Given the description of an element on the screen output the (x, y) to click on. 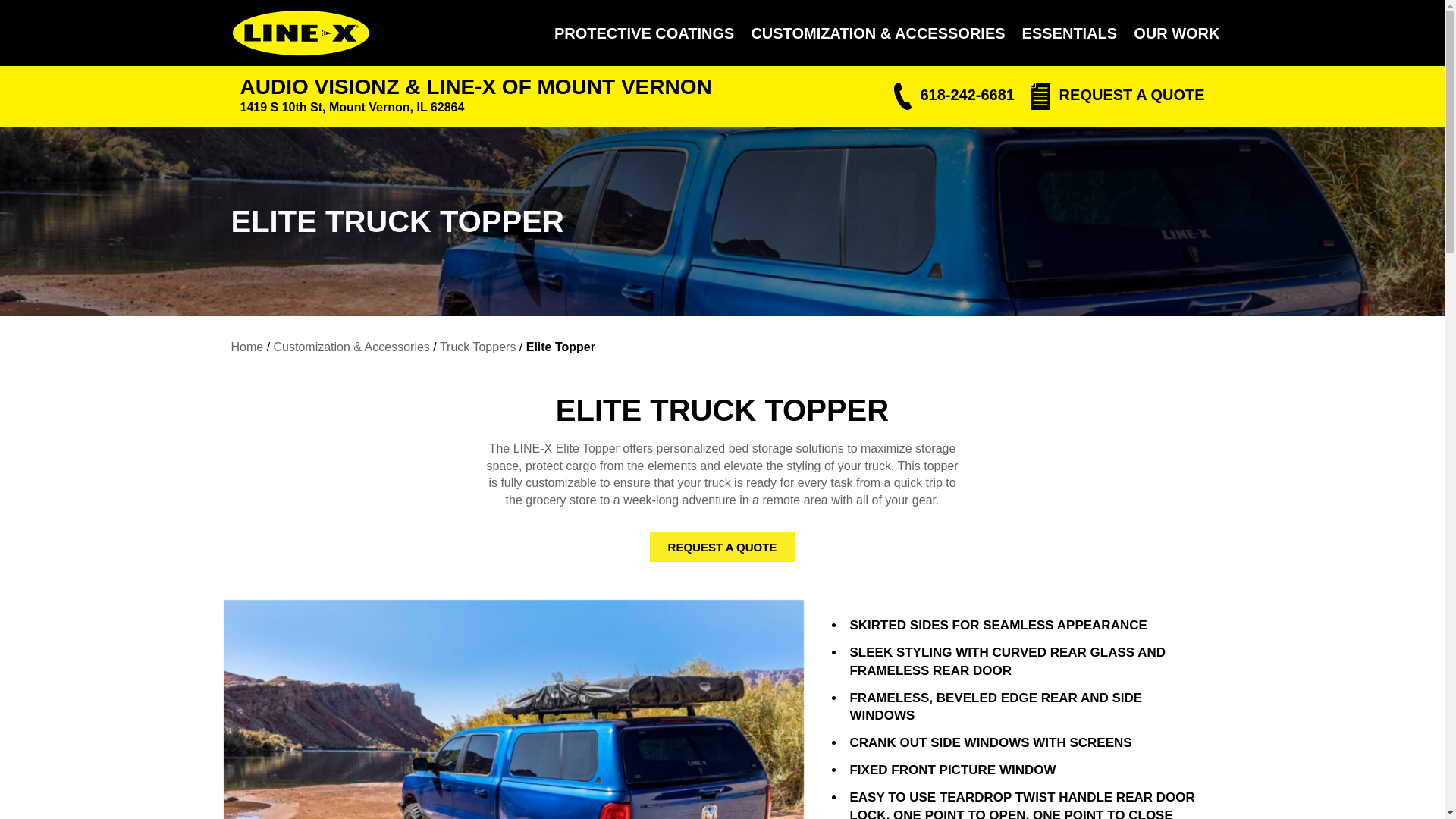
ESSENTIALS (1070, 32)
Home (246, 346)
OUR WORK (1175, 32)
PROTECTIVE COATINGS (643, 32)
Elite Topper (560, 346)
Truck Toppers (477, 346)
REQUEST A QUOTE (721, 546)
